Given the description of an element on the screen output the (x, y) to click on. 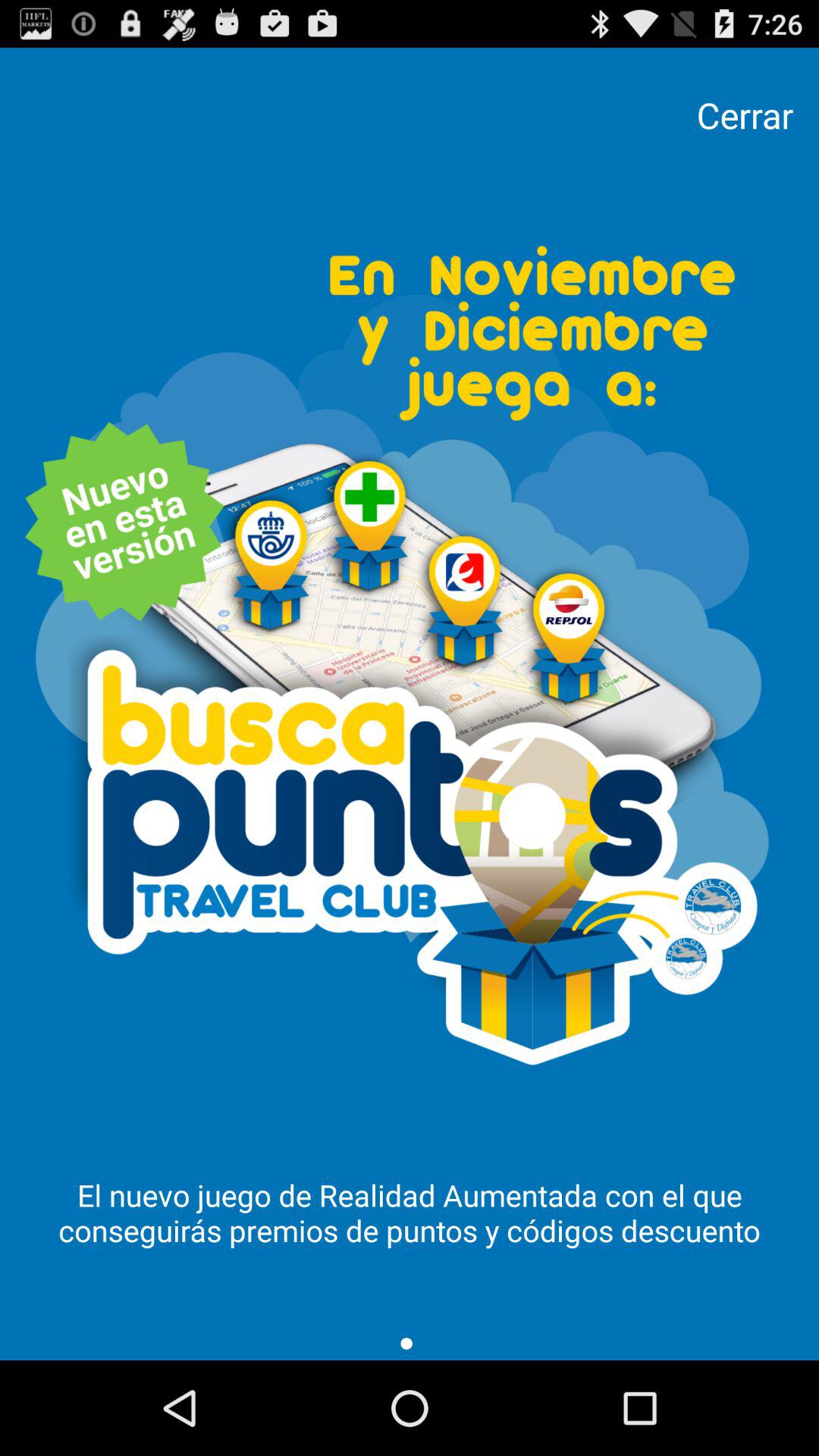
swipe until the cerrar item (744, 115)
